Given the description of an element on the screen output the (x, y) to click on. 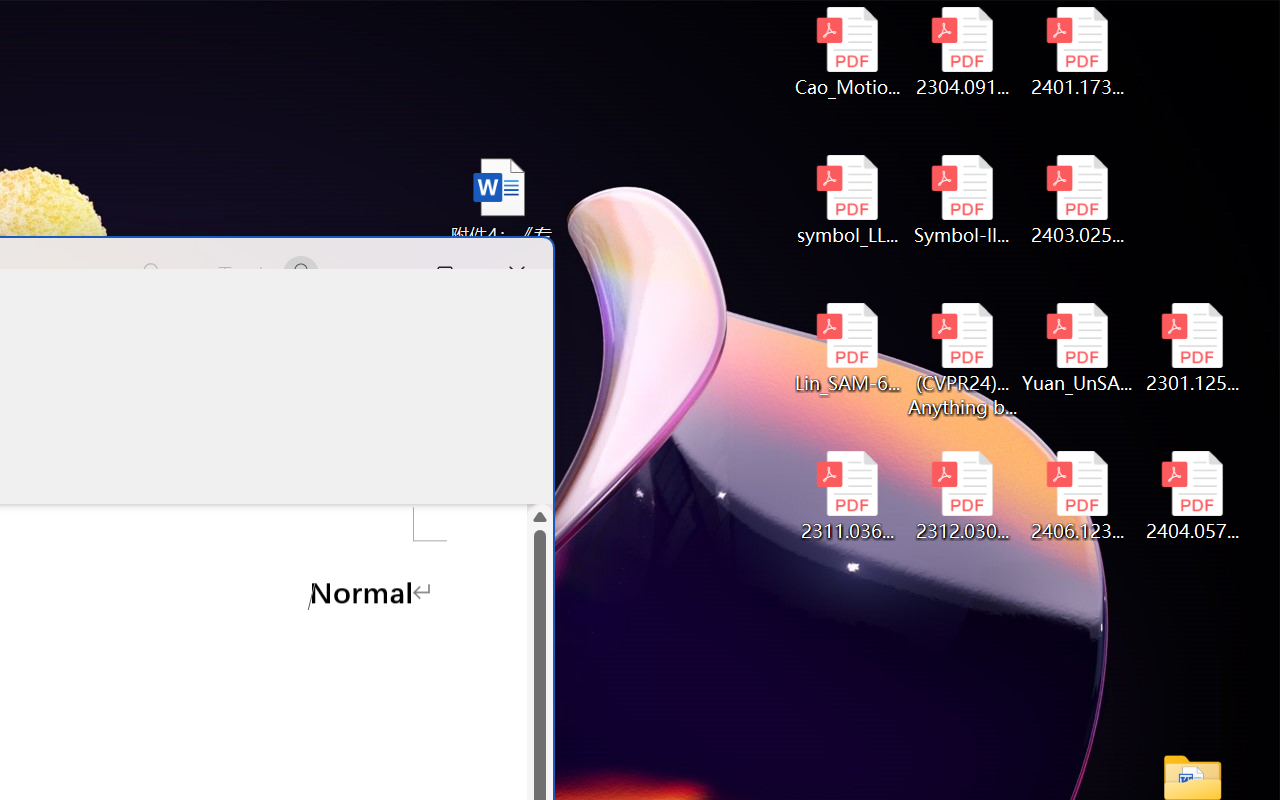
2401.17399v1.pdf (1077, 52)
Ruler (84, 417)
Line up (539, 516)
2301.12597v3.pdf (1192, 348)
Maximize (445, 274)
2403.02502v1.pdf (1077, 200)
2406.12373v2.pdf (1077, 496)
Format Background (198, 417)
Editing (467, 331)
2304.09121v3.pdf (962, 52)
